Given the description of an element on the screen output the (x, y) to click on. 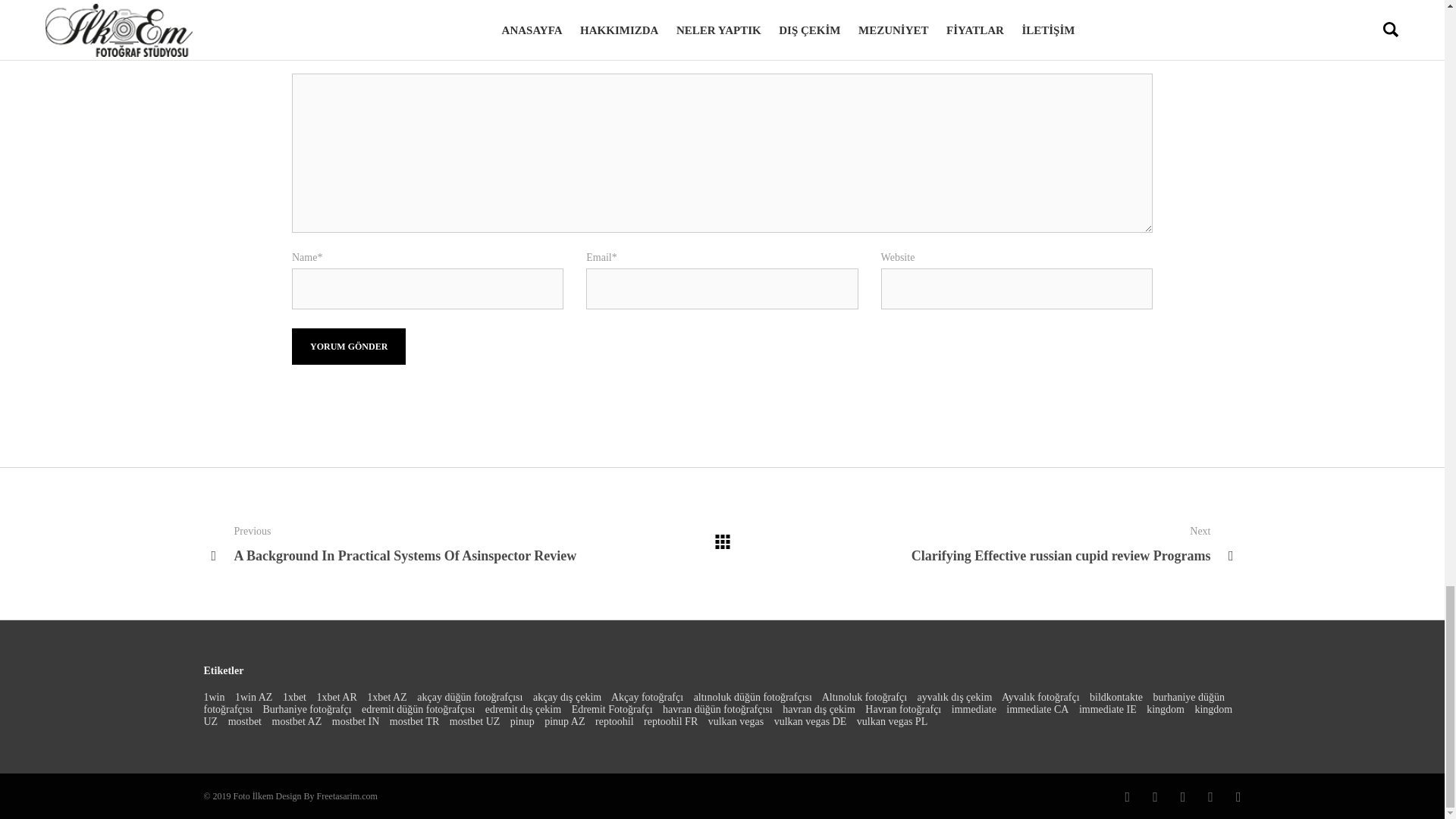
1xbet AZ (386, 697)
1win (213, 697)
1xbet (293, 697)
1win AZ (253, 697)
1xbet AR (336, 697)
